Given the description of an element on the screen output the (x, y) to click on. 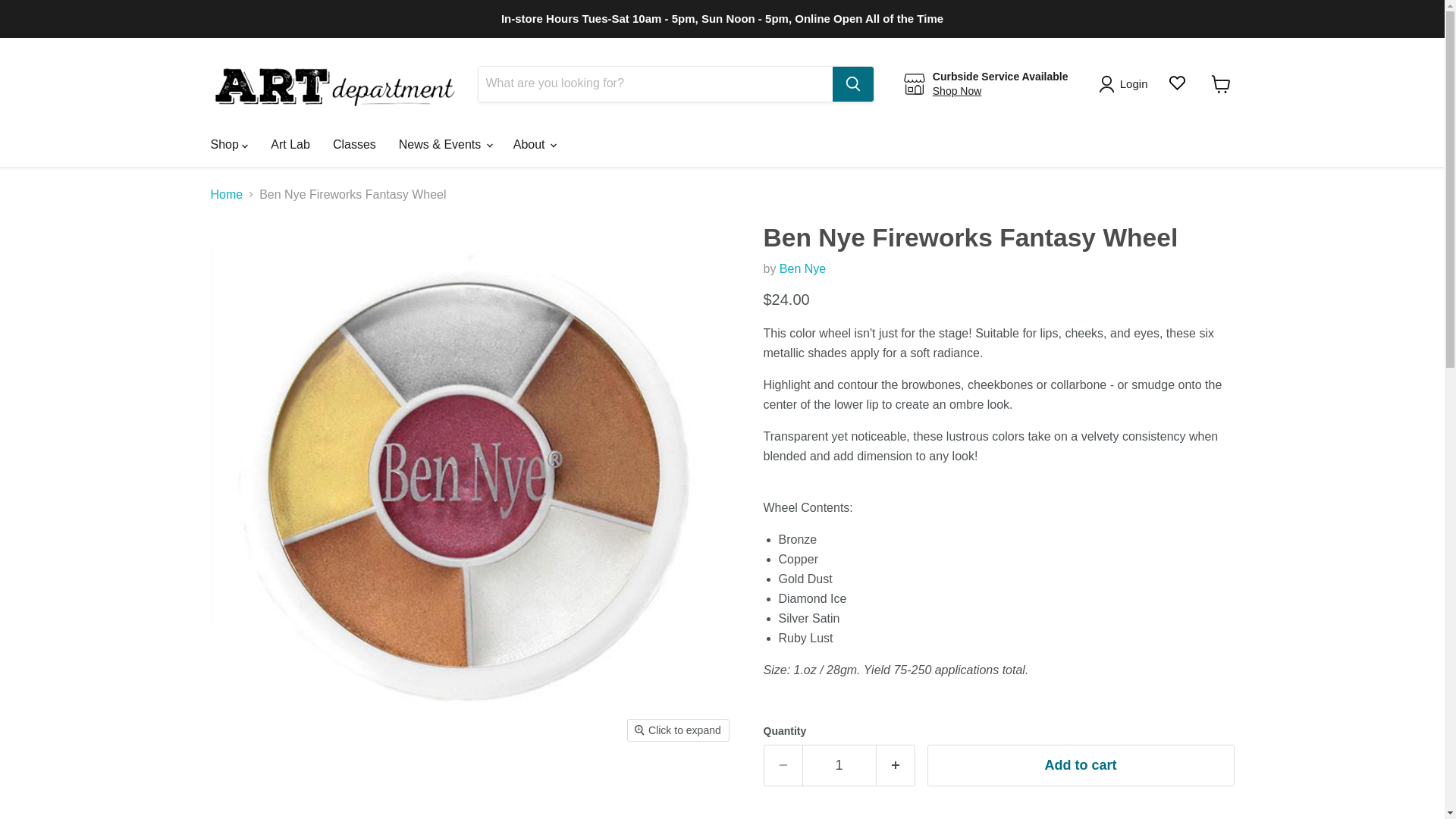
Login (1125, 84)
Shop Now (957, 91)
View cart (1221, 82)
Ben Nye (801, 268)
1 (839, 765)
